Given the description of an element on the screen output the (x, y) to click on. 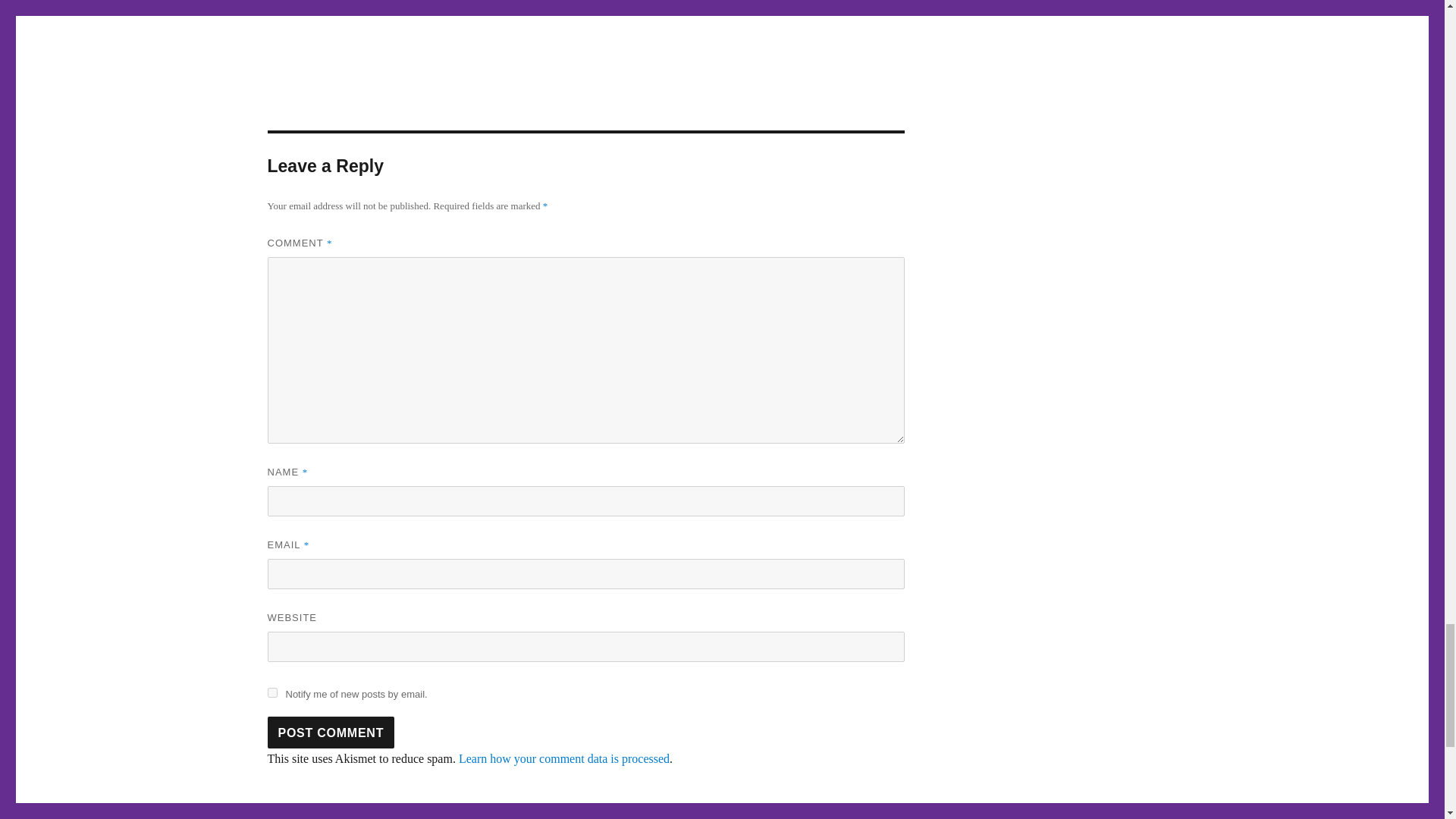
Click to share on Twitter (479, 3)
Reddit (700, 3)
Facebook (556, 3)
Click to share on Reddit (700, 3)
Post Comment (330, 732)
Post Comment (330, 732)
Click to share on Tumblr (631, 3)
Learn how your comment data is processed (563, 758)
Twitter (479, 3)
Tumblr (631, 3)
Click to share on Facebook (556, 3)
subscribe (271, 692)
